Given the description of an element on the screen output the (x, y) to click on. 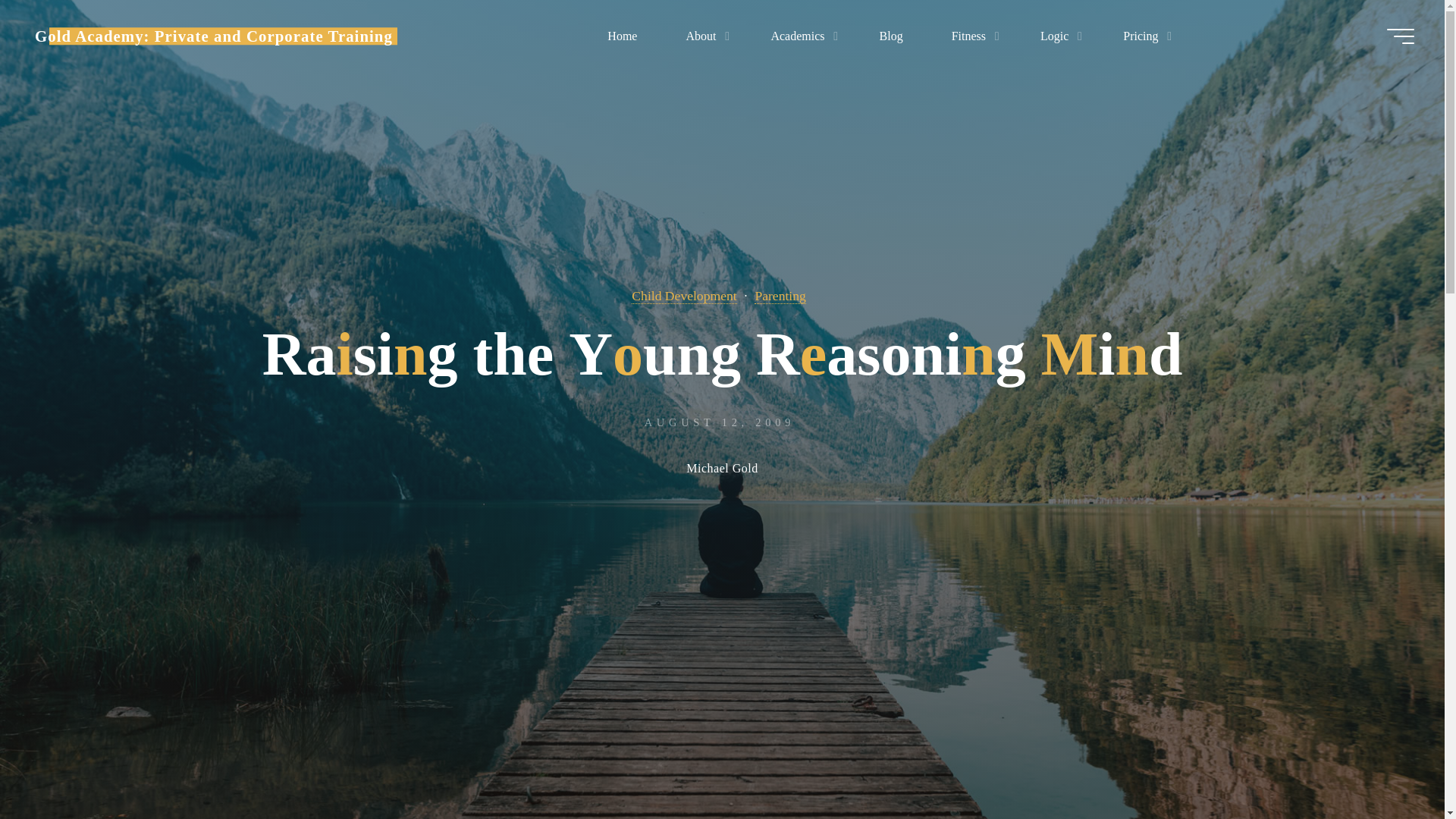
Read more (721, 724)
View all posts by Michael Gold (721, 469)
